Given the description of an element on the screen output the (x, y) to click on. 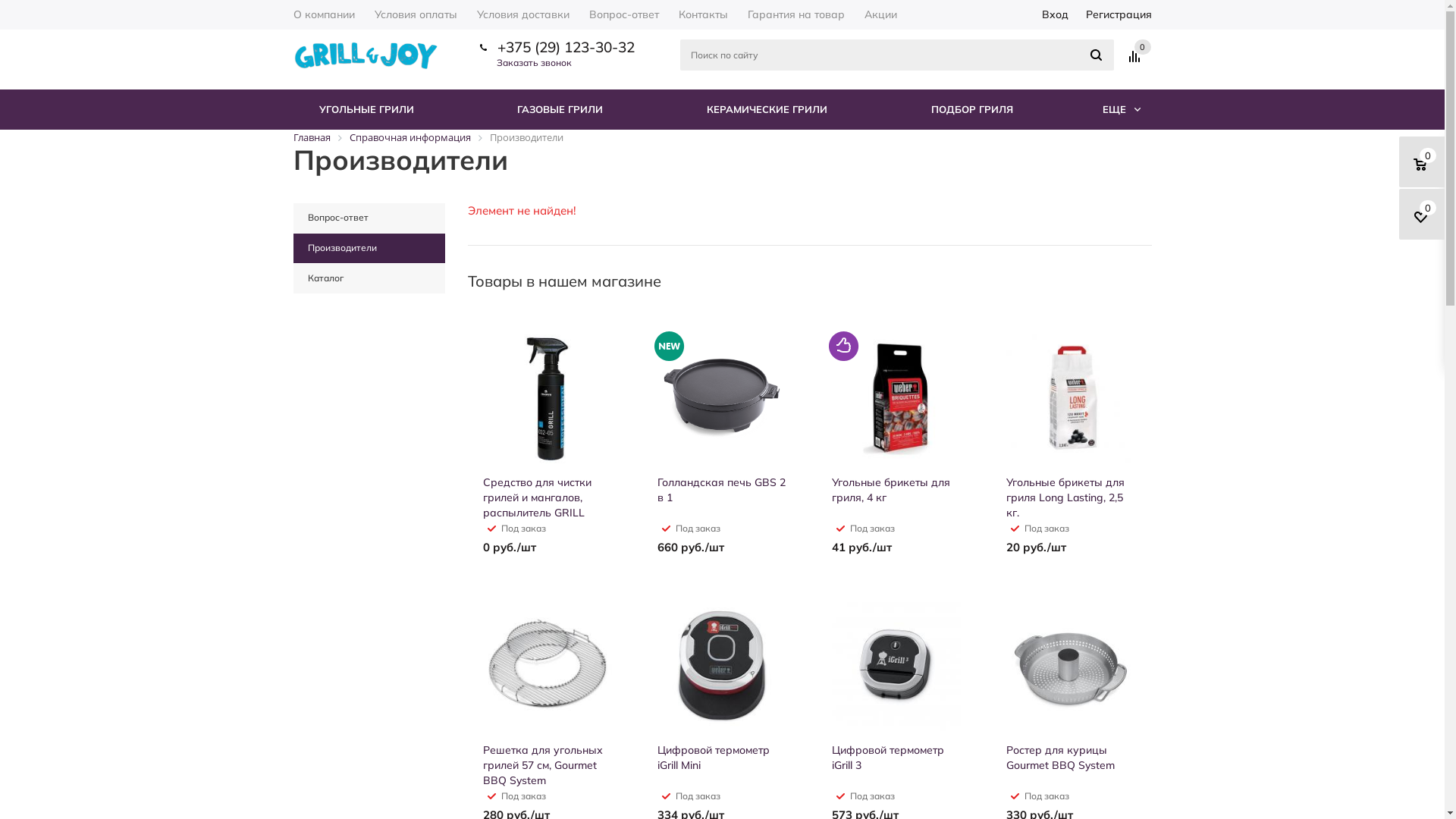
+375 (29) 123-30-32 Element type: text (565, 46)
